Given the description of an element on the screen output the (x, y) to click on. 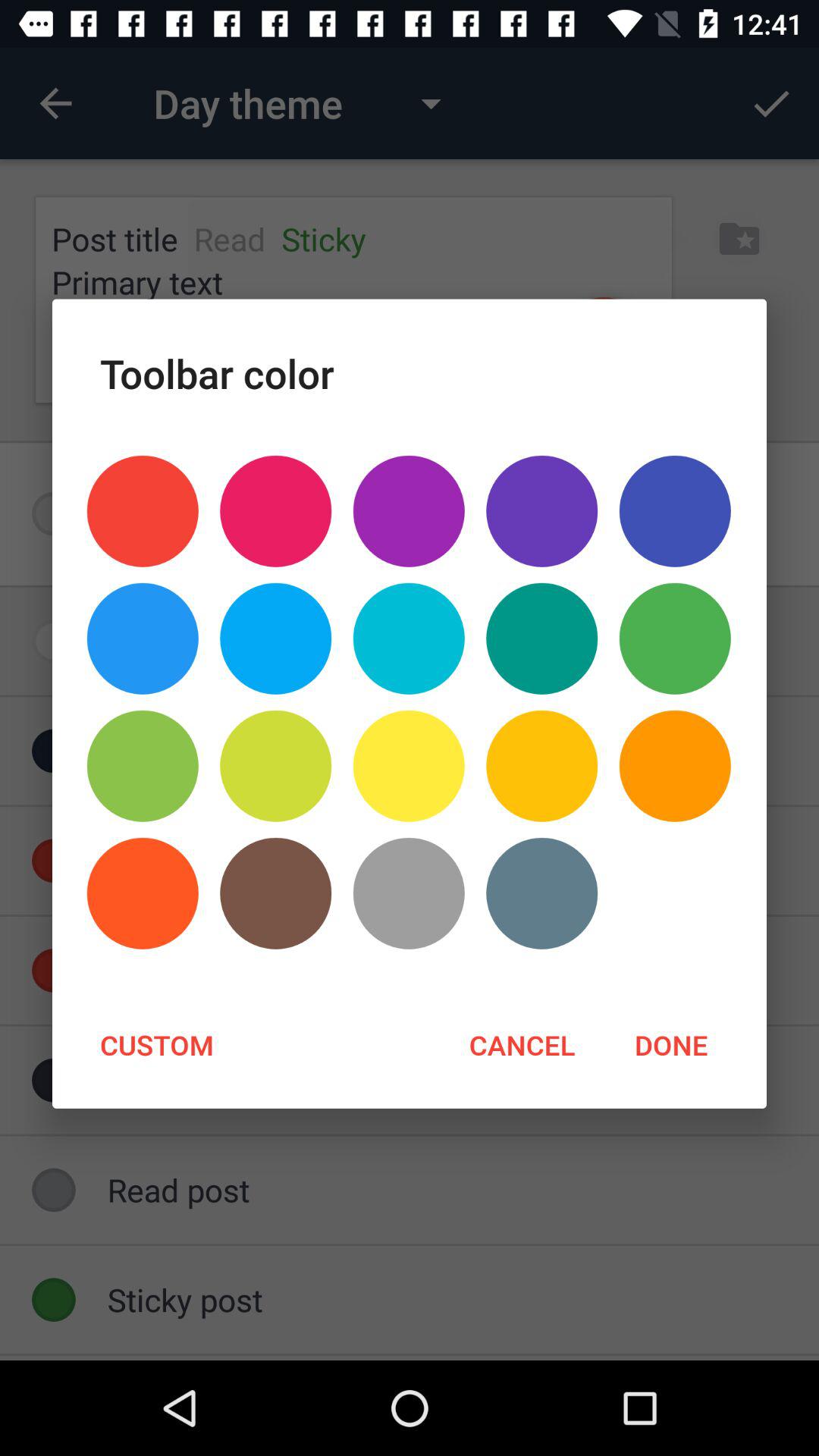
swipe to the cancel icon (522, 1044)
